Given the description of an element on the screen output the (x, y) to click on. 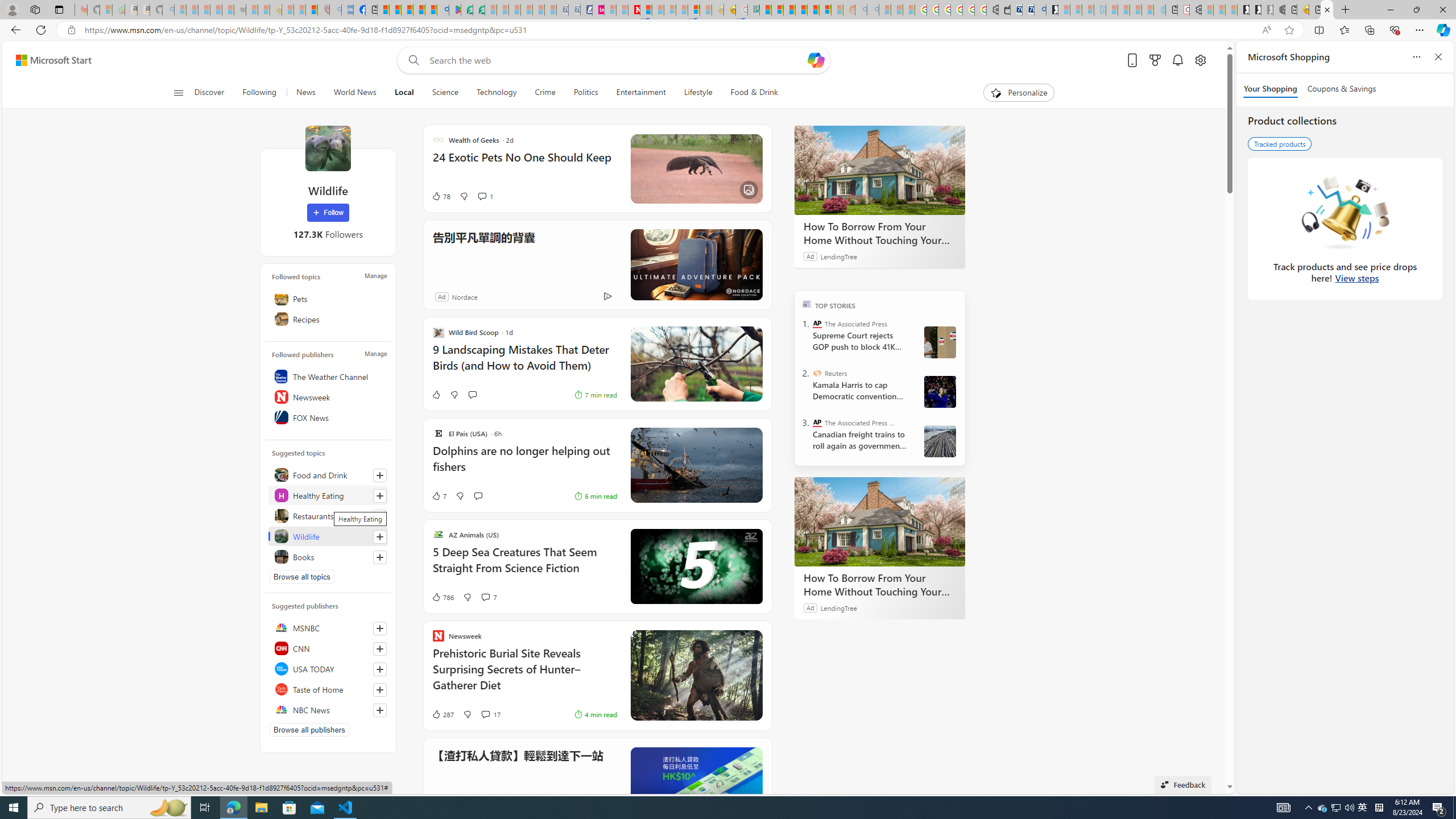
287 Like (442, 714)
The Weather Channel (327, 376)
Like (435, 395)
Bing Real Estate - Home sales and rental listings (1040, 9)
Entertainment (641, 92)
LendingTree (838, 607)
